Given the description of an element on the screen output the (x, y) to click on. 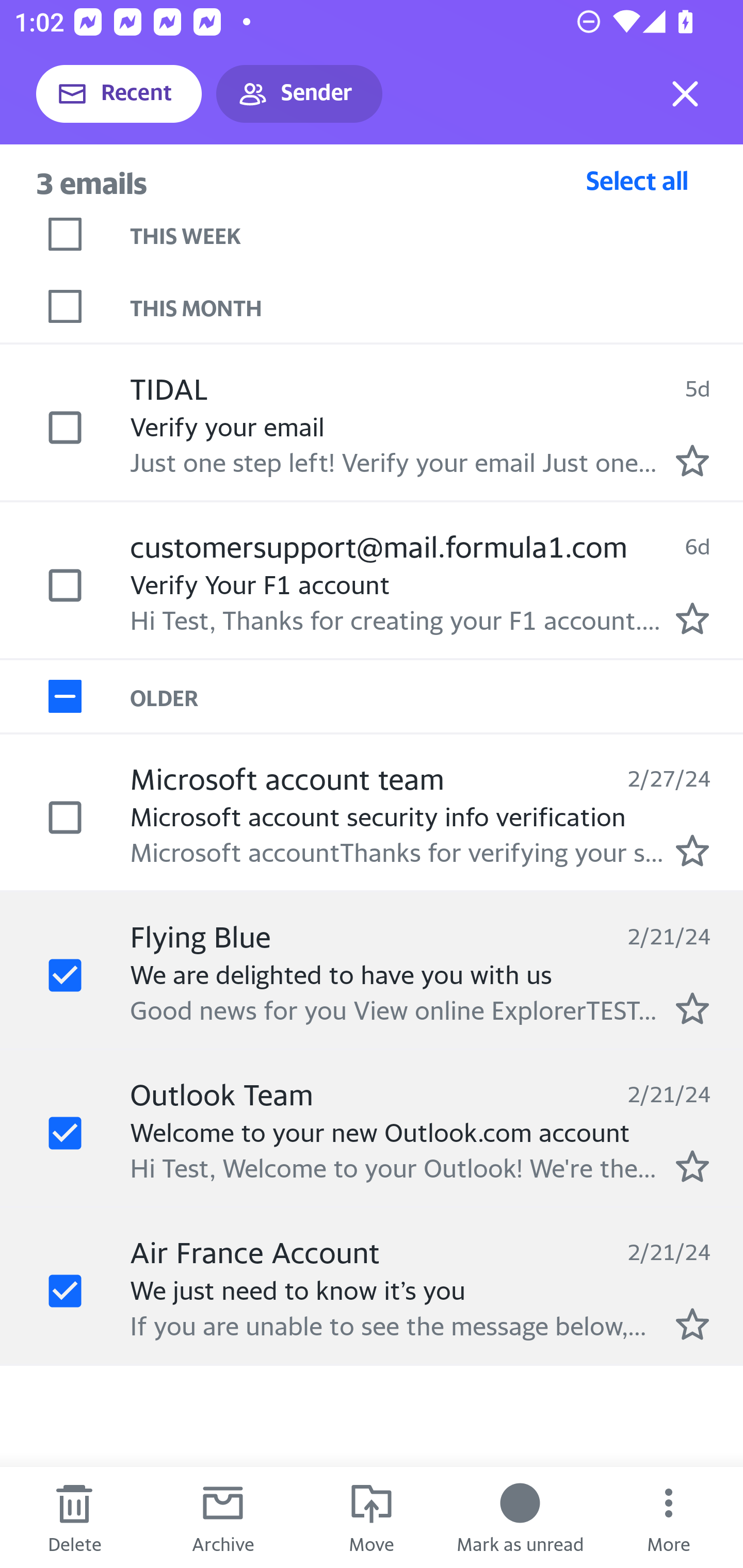
Sender (299, 93)
Exit selection mode (684, 93)
Select all (637, 180)
THIS MONTH (436, 306)
Mark as starred. (692, 460)
Mark as starred. (692, 618)
OLDER (436, 696)
Mark as starred. (692, 850)
Mark as starred. (692, 1008)
Mark as starred. (692, 1165)
Mark as starred. (692, 1324)
Delete (74, 1517)
Archive (222, 1517)
Move (371, 1517)
Mark as unread (519, 1517)
More (668, 1517)
